Given the description of an element on the screen output the (x, y) to click on. 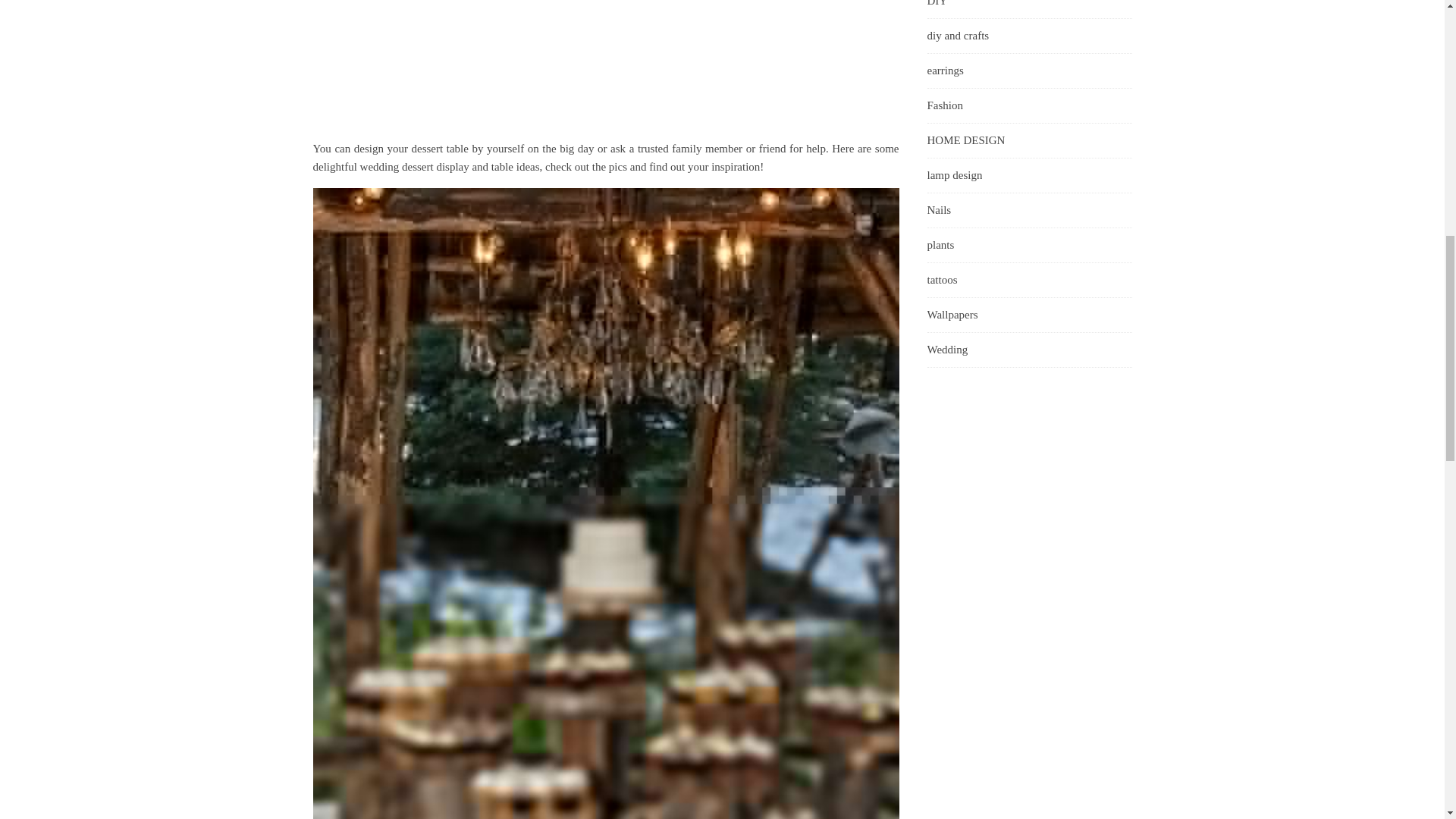
Advertisement (605, 69)
